Given the description of an element on the screen output the (x, y) to click on. 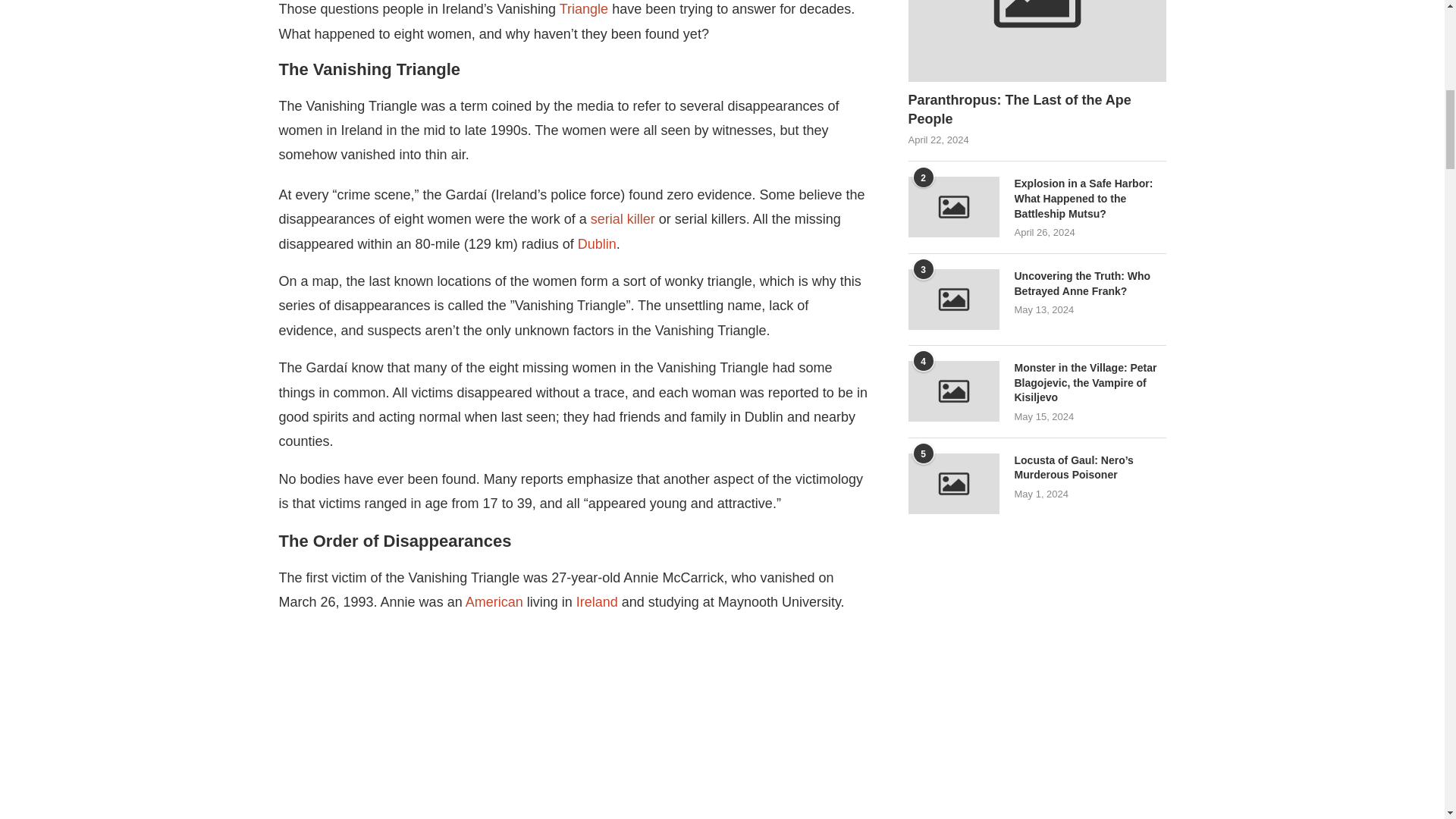
Paranthropus: The Last of the Ape People (1037, 40)
Paranthropus: The Last of the Ape People (1037, 109)
